Given the description of an element on the screen output the (x, y) to click on. 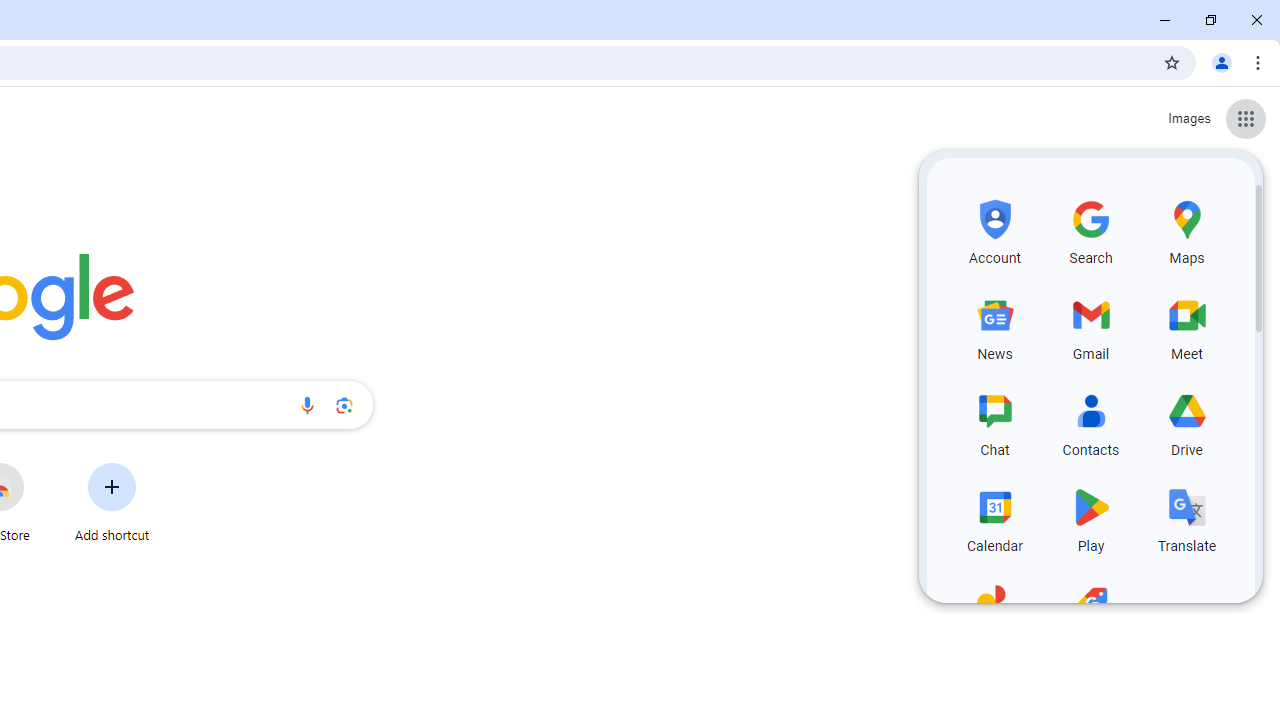
Search, row 1 of 5 and column 2 of 3 in the first section (1090, 229)
Chat, row 3 of 5 and column 1 of 3 in the first section (994, 421)
Meet, row 2 of 5 and column 3 of 3 in the first section (1186, 325)
News, row 2 of 5 and column 1 of 3 in the first section (994, 325)
Drive, row 3 of 5 and column 3 of 3 in the first section (1186, 421)
Play, row 4 of 5 and column 2 of 3 in the first section (1090, 517)
Shopping, row 5 of 5 and column 2 of 3 in the first section (1090, 613)
Account, row 1 of 5 and column 1 of 3 in the first section (994, 229)
Gmail, row 2 of 5 and column 2 of 3 in the first section (1090, 325)
